Given the description of an element on the screen output the (x, y) to click on. 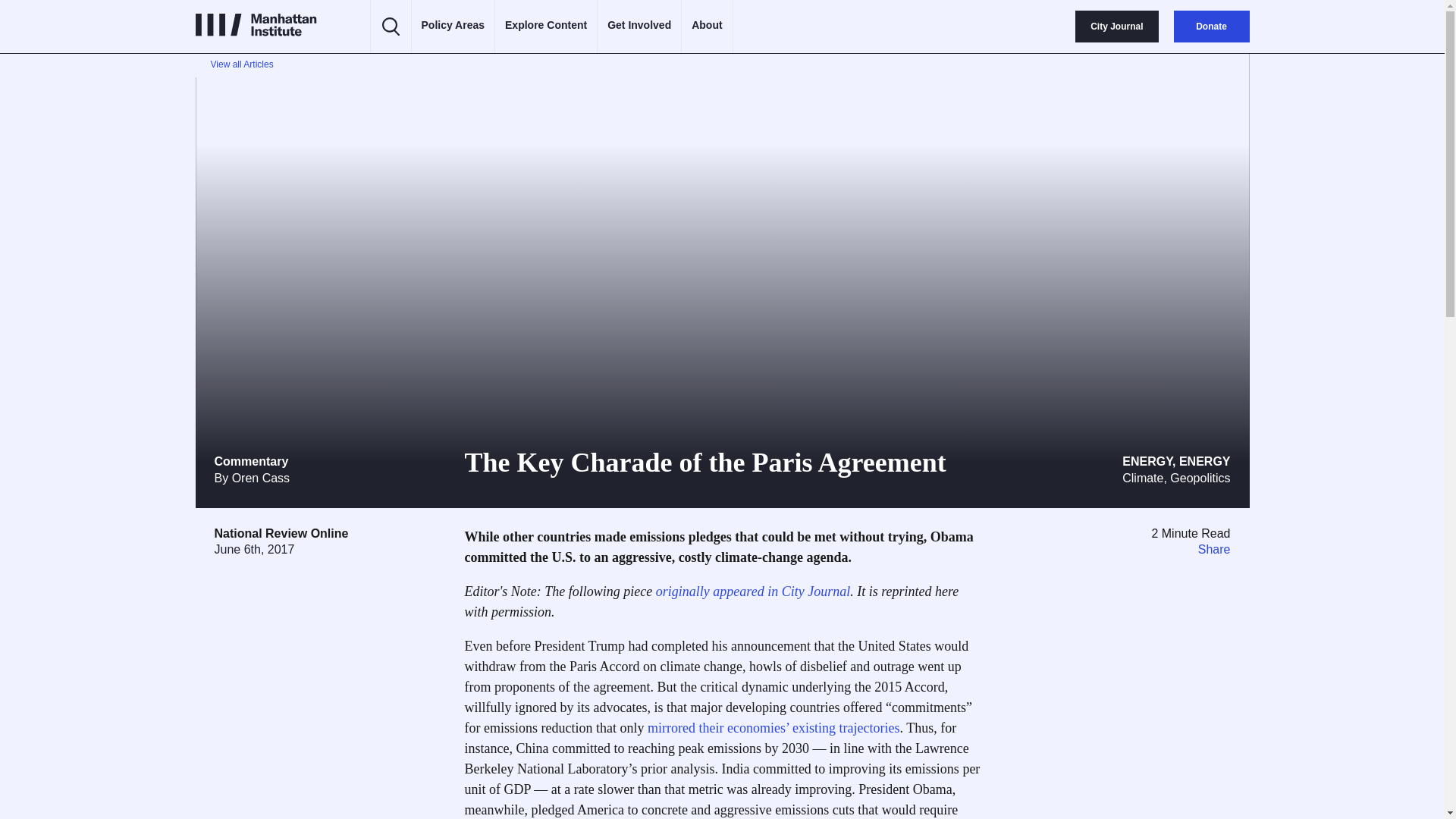
About (706, 26)
Explore Content (545, 26)
Donate (1211, 26)
Policy Areas (453, 26)
Get Involved (639, 26)
City Journal (1116, 26)
